Given the description of an element on the screen output the (x, y) to click on. 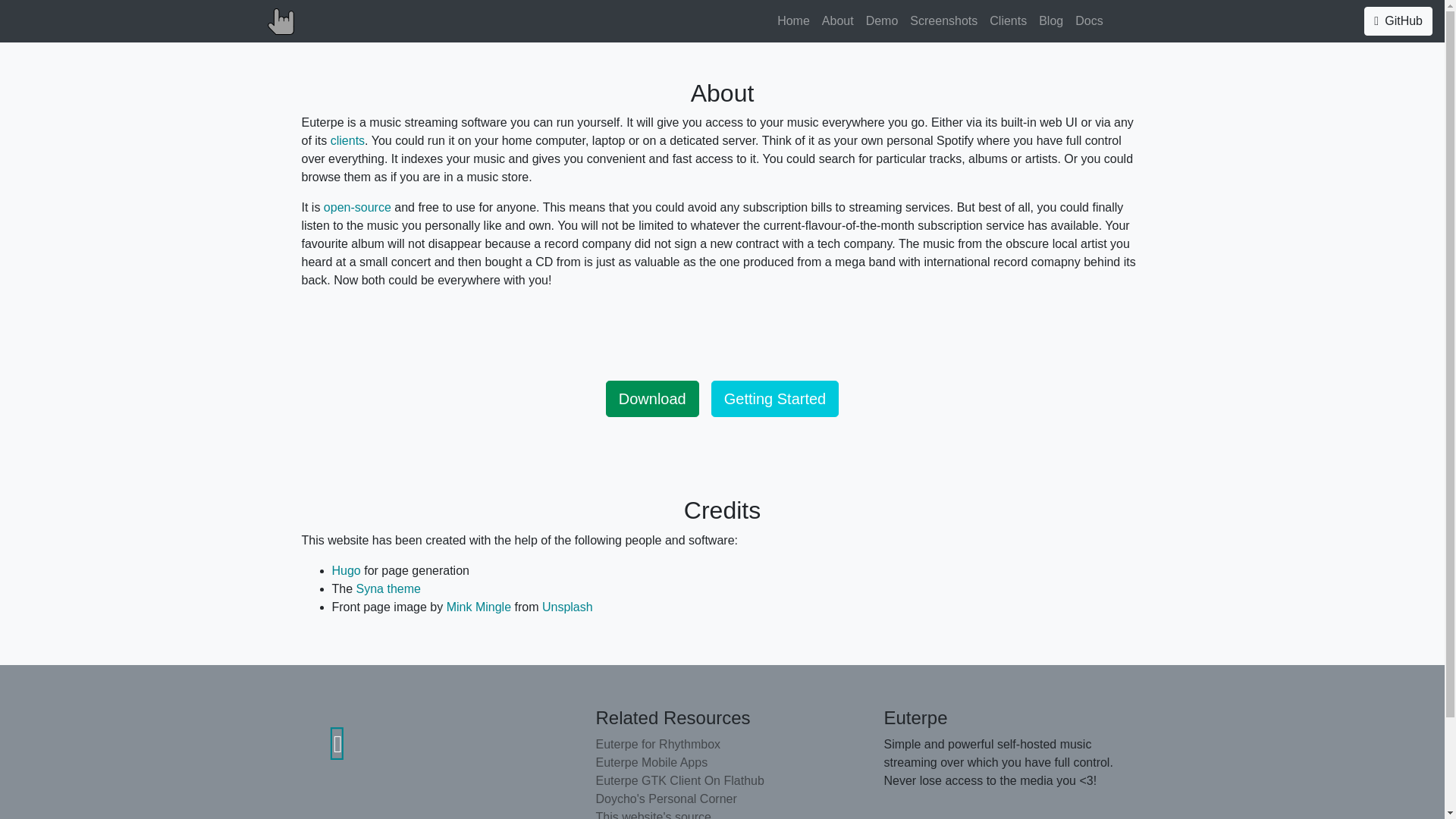
open-source (357, 206)
Euterpe GitHub repository (337, 743)
Syna theme (388, 588)
Euterpe Mobile Apps (721, 762)
Doycho's Personal Corner (721, 799)
About (837, 20)
Getting Started (775, 398)
Clients (1008, 20)
Github (1398, 21)
Unsplash (566, 606)
Home (793, 20)
Euterpe GTK Client On Flathub (721, 781)
Docs (1088, 20)
Hugo (346, 570)
Screenshots (944, 20)
